Given the description of an element on the screen output the (x, y) to click on. 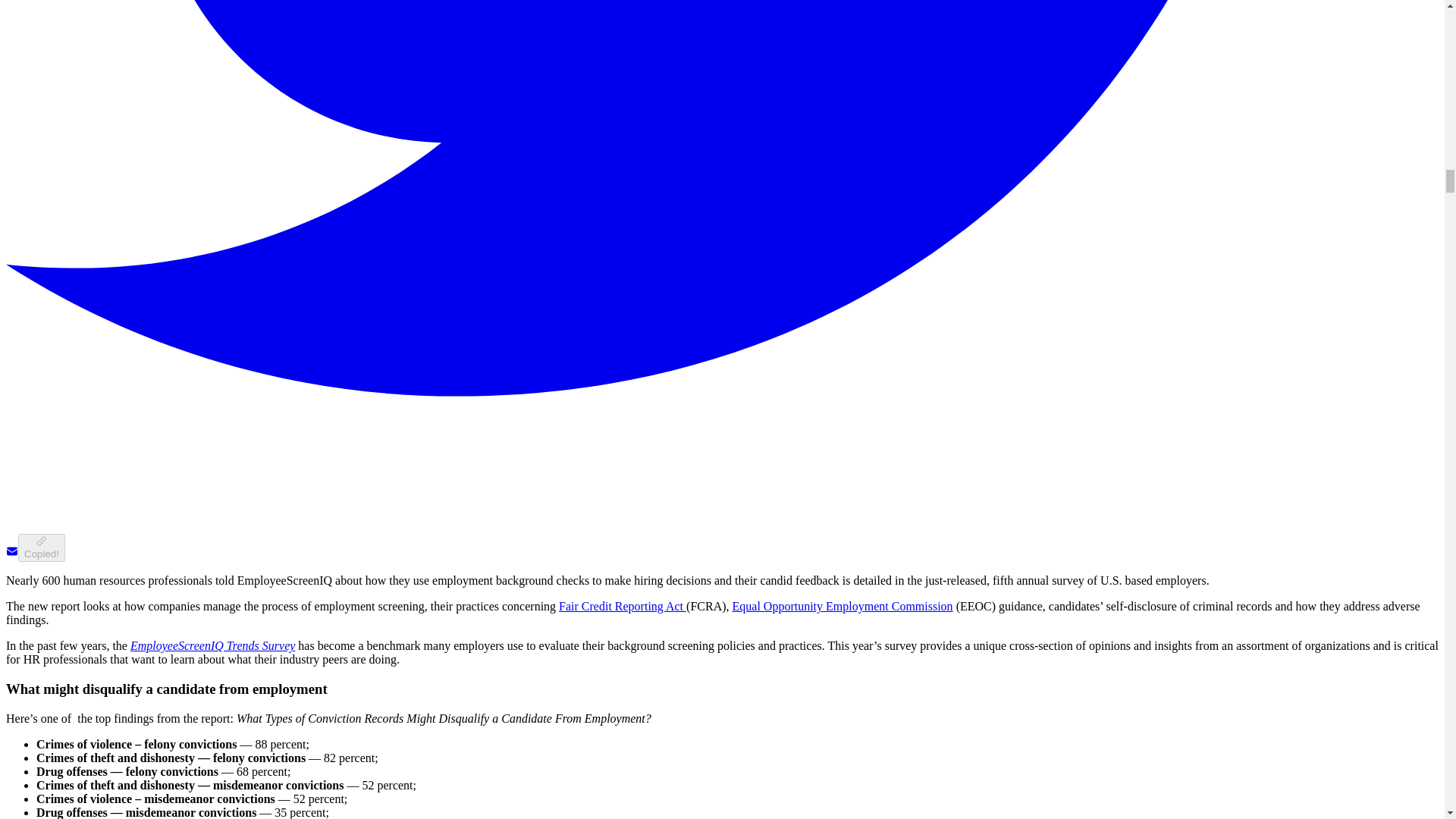
Copied! (41, 547)
Fair Credit Reporting Act (622, 605)
Equal Opportunity Employment Commission (842, 605)
EmployeeScreenIQ Trends Survey (213, 645)
